Given the description of an element on the screen output the (x, y) to click on. 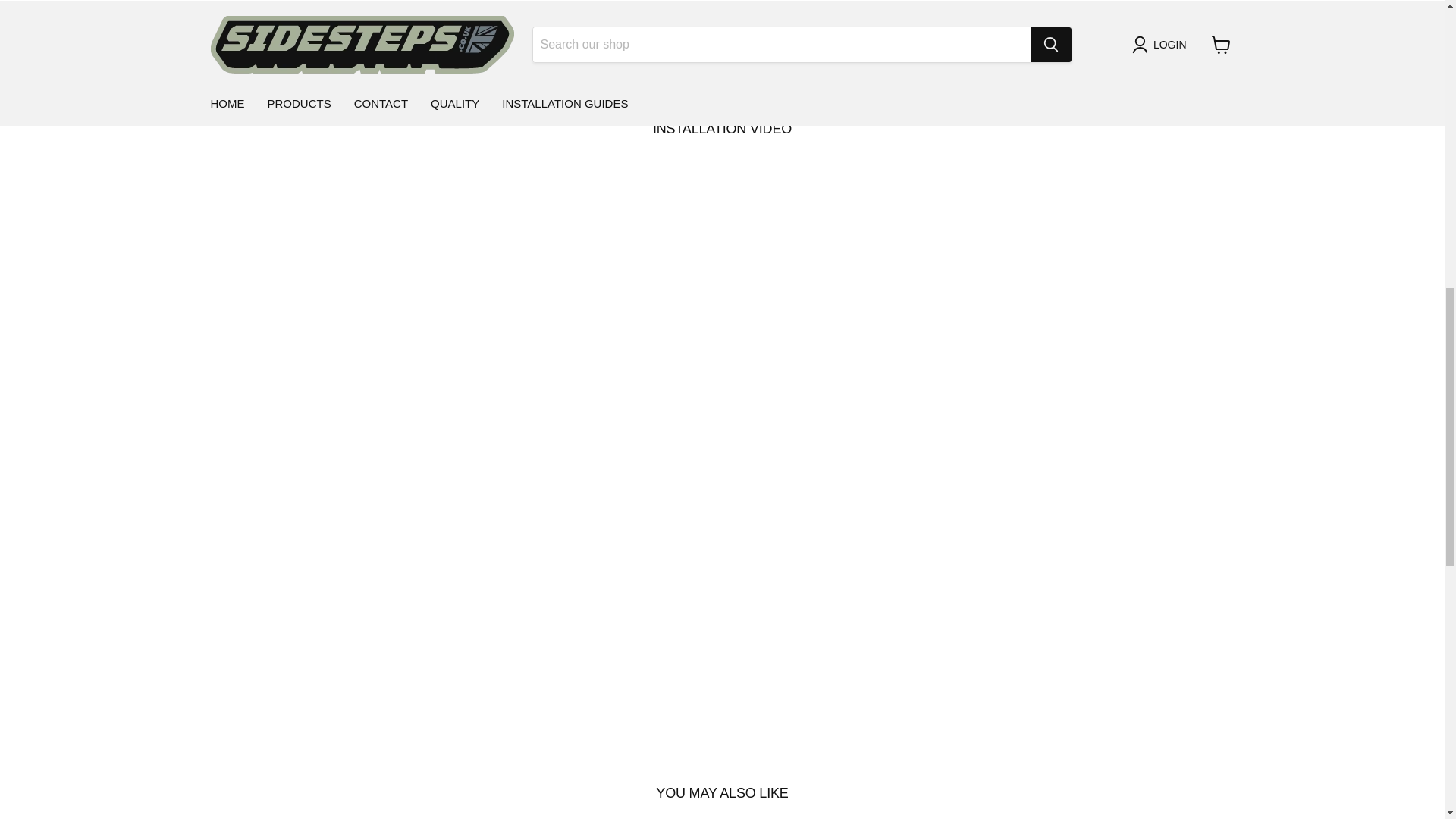
Share on Facebook (771, 48)
